Given the description of an element on the screen output the (x, y) to click on. 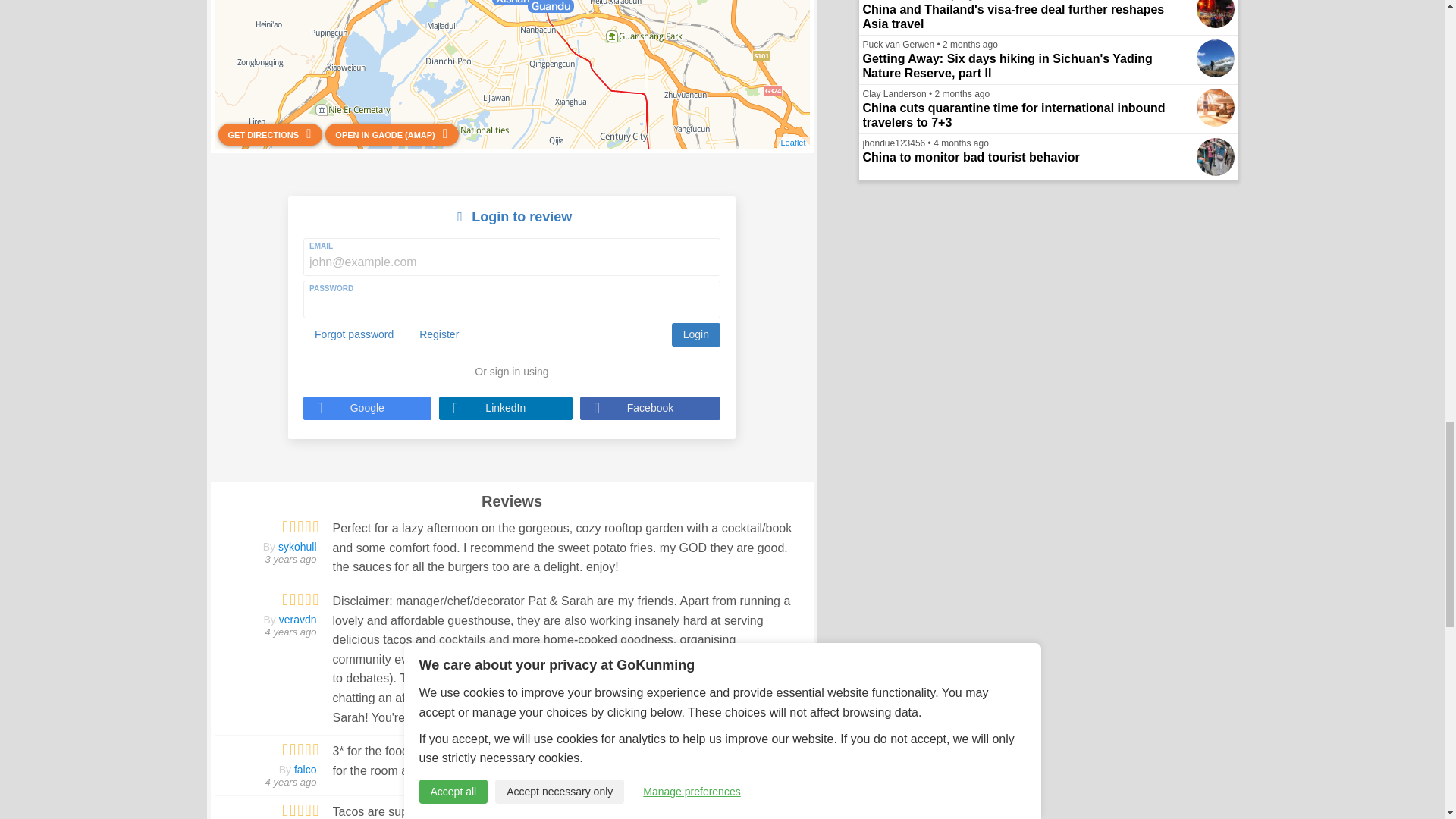
A JS library for interactive maps (792, 142)
April 16, 2021, 8:35am (290, 559)
October 15, 2020, 2:44pm (290, 632)
June 30, 2020, 12:12am (290, 781)
